Given the description of an element on the screen output the (x, y) to click on. 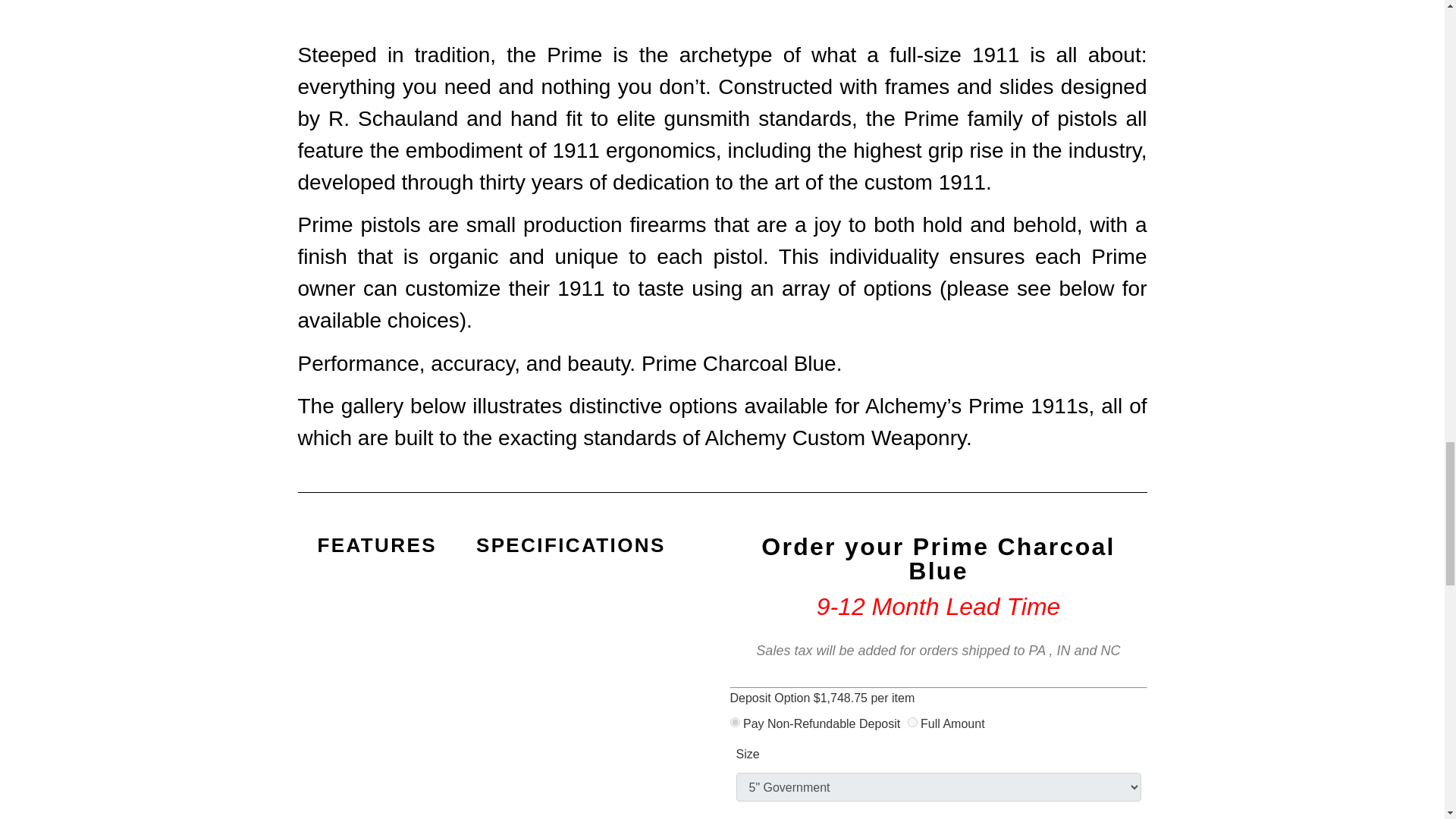
deposit (734, 722)
full (912, 722)
